Given the description of an element on the screen output the (x, y) to click on. 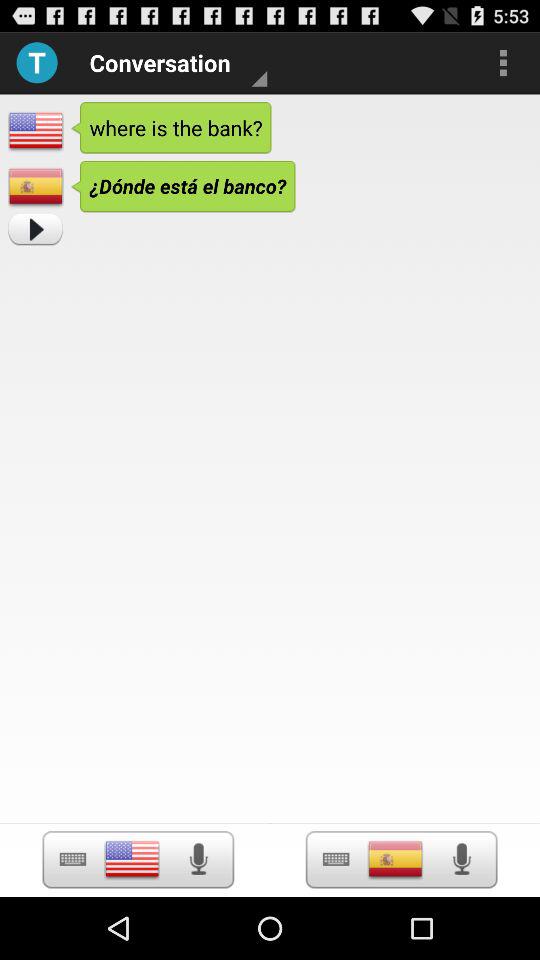
screen page (395, 859)
